Given the description of an element on the screen output the (x, y) to click on. 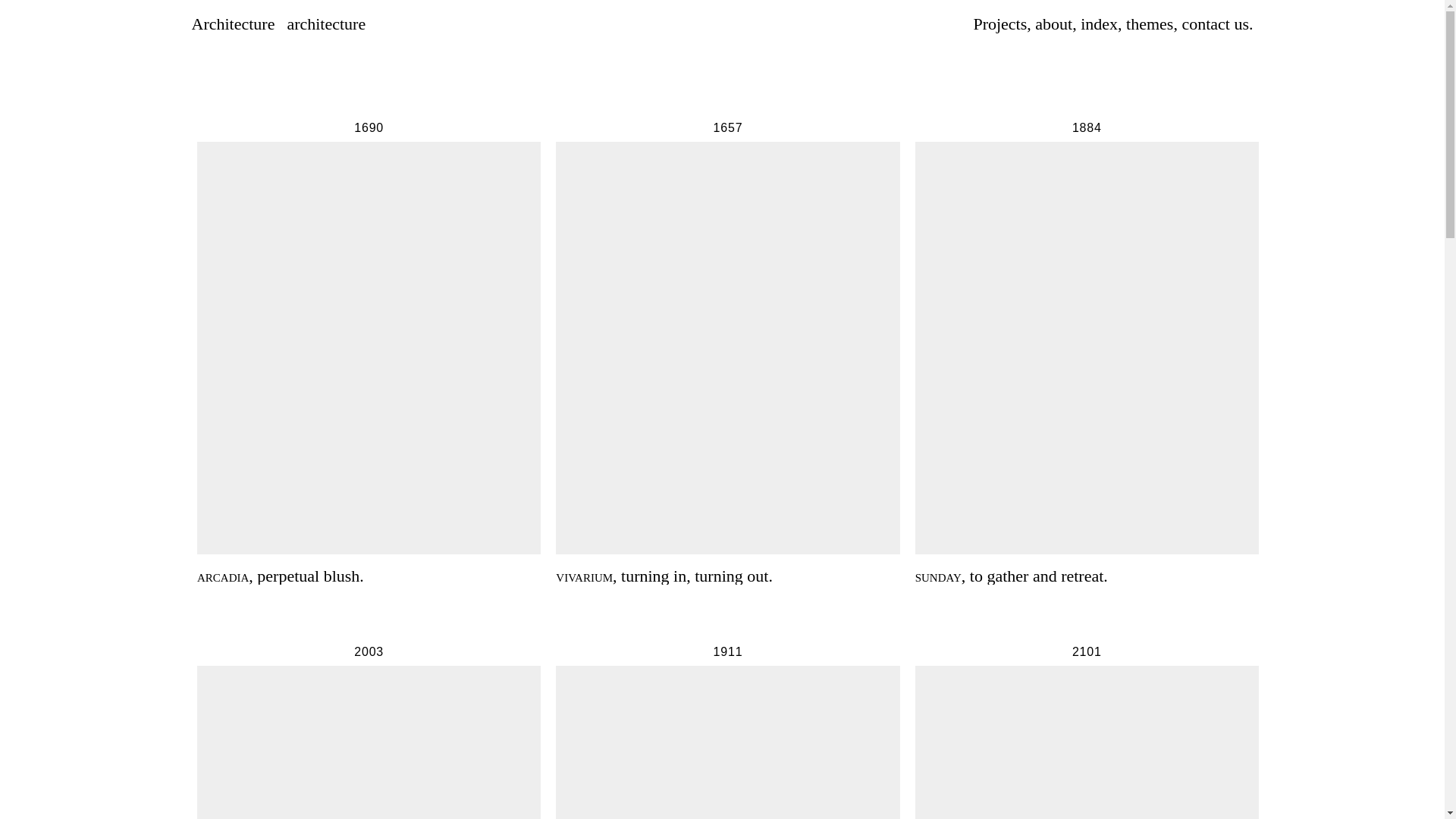
Architecturearchitecture (281, 27)
index (368, 732)
newsletter (1100, 24)
Projects (1227, 797)
themes (1087, 732)
contact us (1001, 24)
about (1151, 24)
instagram (1216, 24)
